Given the description of an element on the screen output the (x, y) to click on. 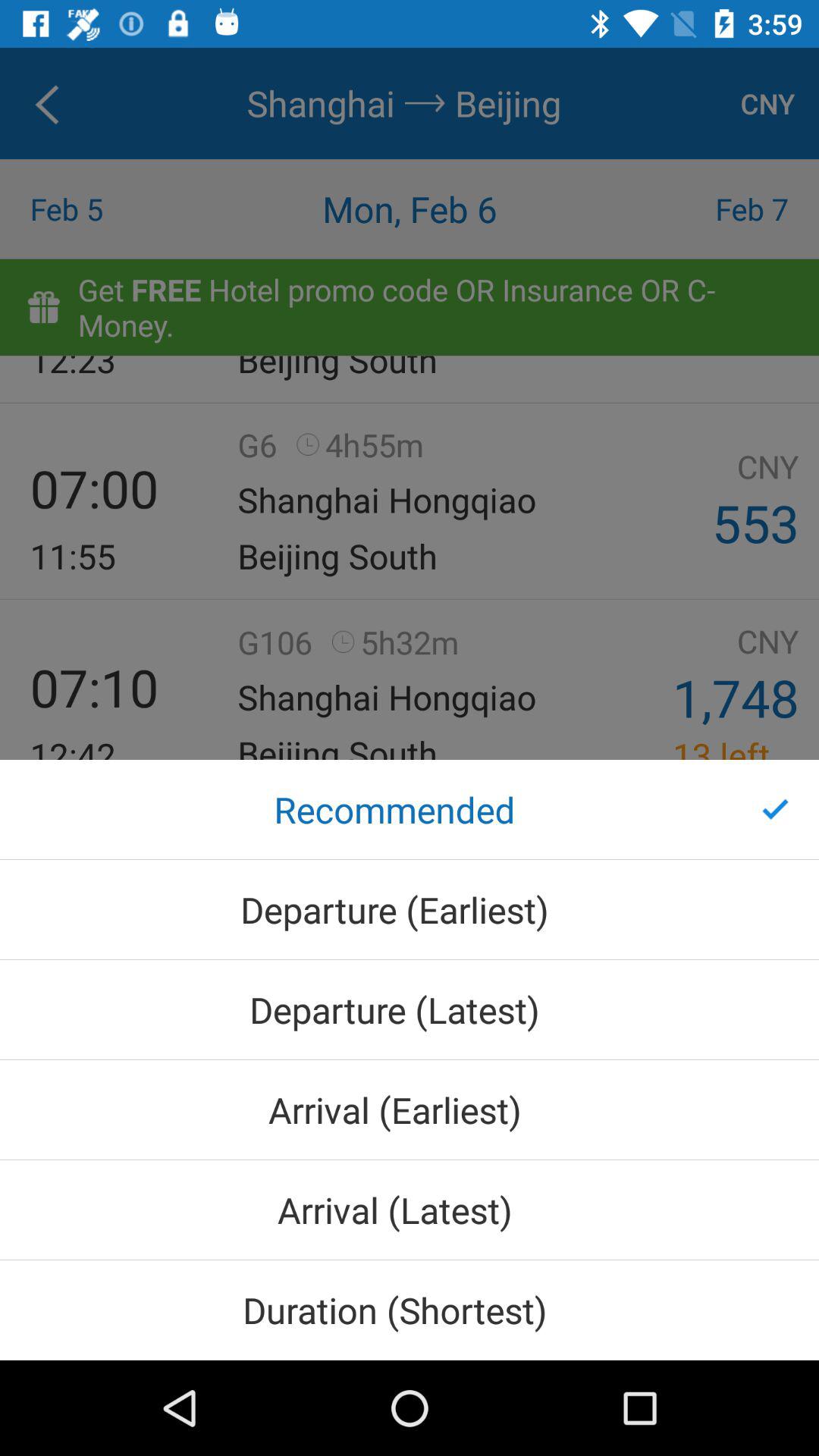
flip until the departure (latest) item (409, 1009)
